Given the description of an element on the screen output the (x, y) to click on. 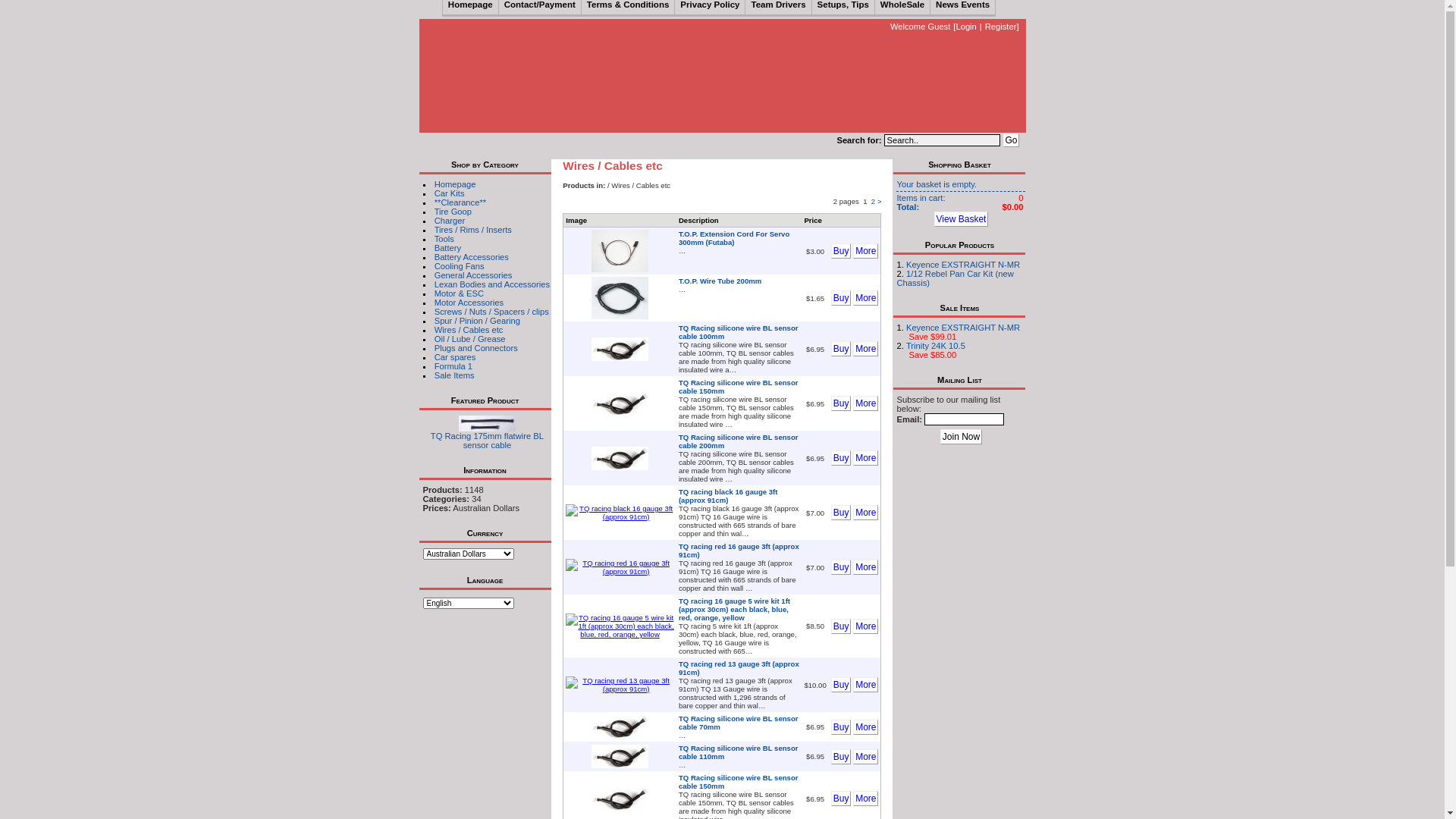
More Element type: text (865, 457)
T.O.P. Extension Cord For Servo 300mm (Futaba) Element type: text (733, 237)
Screws / Nuts / Spacers / clips Element type: text (491, 311)
Tire Goop Element type: text (452, 211)
Homepage Element type: text (455, 183)
Buy Element type: text (841, 250)
Go Element type: text (1010, 140)
TQ racing red 16 gauge 3ft (approx 91cm) Element type: hover (619, 566)
TQ Racing silicone wire BL sensor cable 150mm Element type: hover (619, 402)
Buy Element type: text (841, 798)
TQ Racing 175mm flatwire BL sensor cable Element type: text (486, 440)
More Element type: text (865, 625)
More Element type: text (865, 512)
Battery Element type: text (447, 247)
2 Element type: text (873, 201)
Lexan Bodies and Accessories Element type: text (491, 283)
TQ racing black 16 gauge 3ft (approx 91cm) Element type: text (728, 495)
TQ Racing silicone wire BL sensor cable 200mm Element type: text (738, 441)
Spur / Pinion / Gearing Element type: text (477, 320)
Buy Element type: text (841, 566)
More Element type: text (865, 297)
Oil / Lube / Grease Element type: text (469, 338)
1/12 Rebel Pan Car Kit (new Chassis) Element type: text (954, 278)
Buy Element type: text (841, 512)
TQ Racing silicone wire BL sensor cable 100mm Element type: hover (619, 348)
TQ Racing 175mm flatwire BL sensor cable Element type: hover (486, 423)
Tools Element type: text (444, 238)
TQ racing red 16 gauge 3ft (approx 91cm) Element type: text (738, 550)
More Element type: text (865, 566)
Buy Element type: text (841, 726)
TQ Racing silicone wire BL sensor cable 110mm Element type: text (738, 751)
Buy Element type: text (841, 403)
Buy Element type: text (841, 756)
Charger Element type: text (449, 220)
More Element type: text (865, 684)
More Element type: text (865, 798)
Register Element type: text (1000, 26)
Motor Accessories Element type: text (468, 302)
Join Now Element type: text (961, 436)
Wires / Cables etc Element type: text (468, 329)
TQ racing black 16 gauge 3ft (approx 91cm) Element type: hover (619, 512)
Buy Element type: text (841, 684)
More Element type: text (865, 403)
TQ Racing silicone wire BL sensor cable 100mm Element type: text (738, 331)
Cooling Fans Element type: text (459, 265)
More Element type: text (865, 348)
Tires / Rims / Inserts Element type: text (472, 229)
T.O.P. Wire Tube 200mm Element type: text (719, 280)
Buy Element type: text (841, 625)
Battery Accessories Element type: text (471, 256)
Buy Element type: text (841, 297)
Sale Items Element type: text (454, 374)
TQ Racing silicone wire BL sensor cable 110mm Element type: hover (619, 756)
Keyence EXSTRAIGHT N-MR Element type: text (962, 264)
Buy Element type: text (841, 457)
General Accessories Element type: text (473, 274)
TQ Racing 175mm flatwire BL sensor cable Element type: hover (486, 426)
TQ Racing silicone wire BL sensor cable 70mm Element type: hover (619, 726)
Plugs and Connectors Element type: text (475, 347)
Formula 1 Element type: text (453, 365)
Car Kits Element type: text (449, 192)
T.O.P. Extension Cord For Servo 300mm (Futaba) Element type: hover (619, 250)
> Element type: text (879, 201)
TQ Racing silicone wire BL sensor cable 150mm Element type: text (738, 781)
Motor & ESC Element type: text (458, 293)
More Element type: text (865, 250)
Buy Element type: text (841, 348)
TQ Racing silicone wire BL sensor cable 150mm Element type: text (738, 386)
**Clearance** Element type: text (460, 202)
TQ Racing silicone wire BL sensor cable 200mm Element type: hover (619, 457)
More Element type: text (865, 756)
TQ racing red 13 gauge 3ft (approx 91cm) Element type: text (738, 667)
Keyence EXSTRAIGHT N-MR Element type: text (962, 327)
Login Element type: text (965, 26)
Trinity 24K 10.5 Element type: text (935, 345)
TQ Racing silicone wire BL sensor cable 70mm Element type: text (738, 722)
More Element type: text (865, 726)
Car spares Element type: text (455, 356)
TQ Racing silicone wire BL sensor cable 150mm Element type: hover (619, 798)
View Basket Element type: text (961, 218)
T.O.P. Wire Tube 200mm Element type: hover (619, 297)
TQ racing red 13 gauge 3ft (approx 91cm) Element type: hover (619, 684)
